Given the description of an element on the screen output the (x, y) to click on. 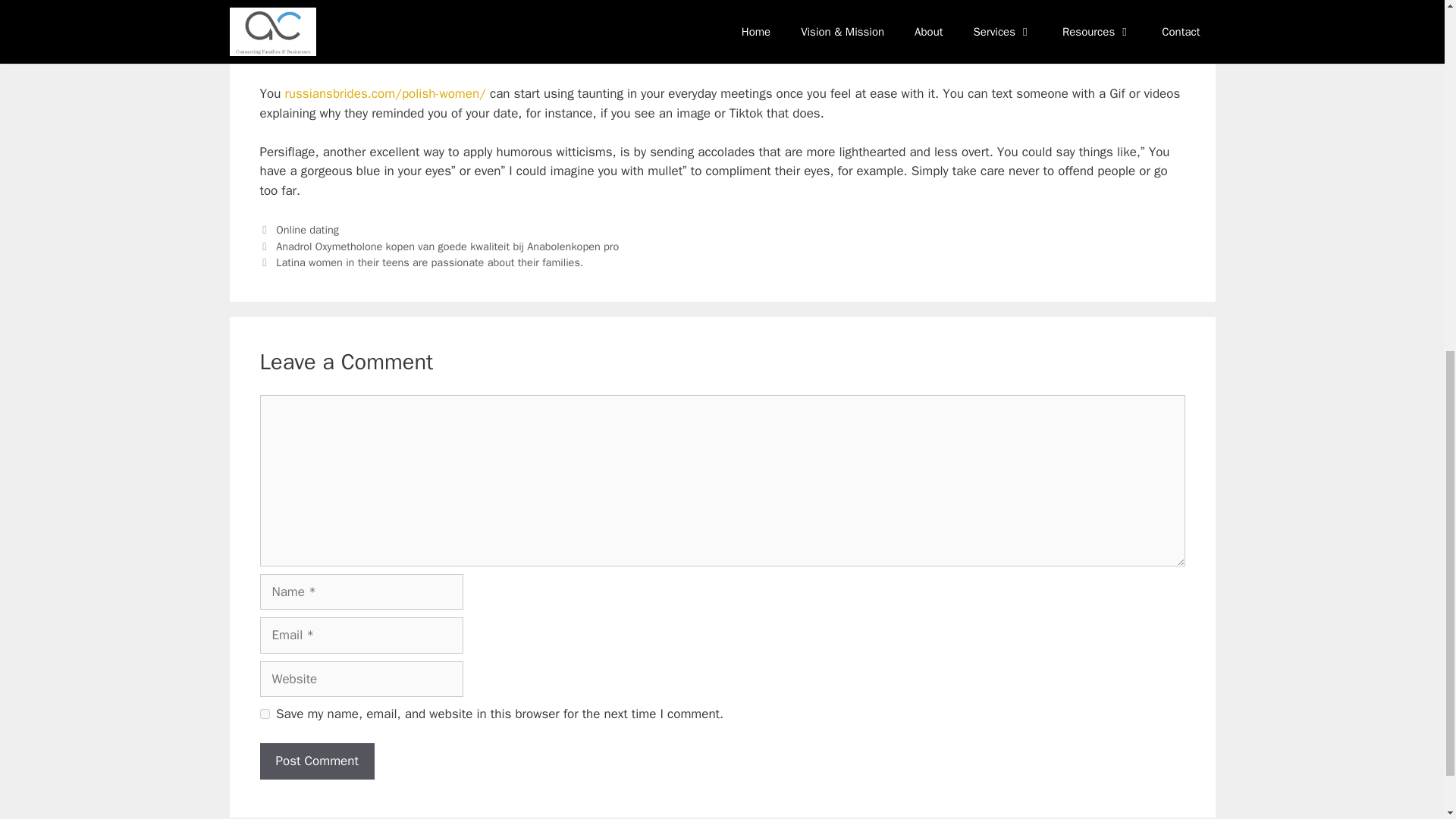
Post Comment (316, 760)
yes (264, 714)
